Given the description of an element on the screen output the (x, y) to click on. 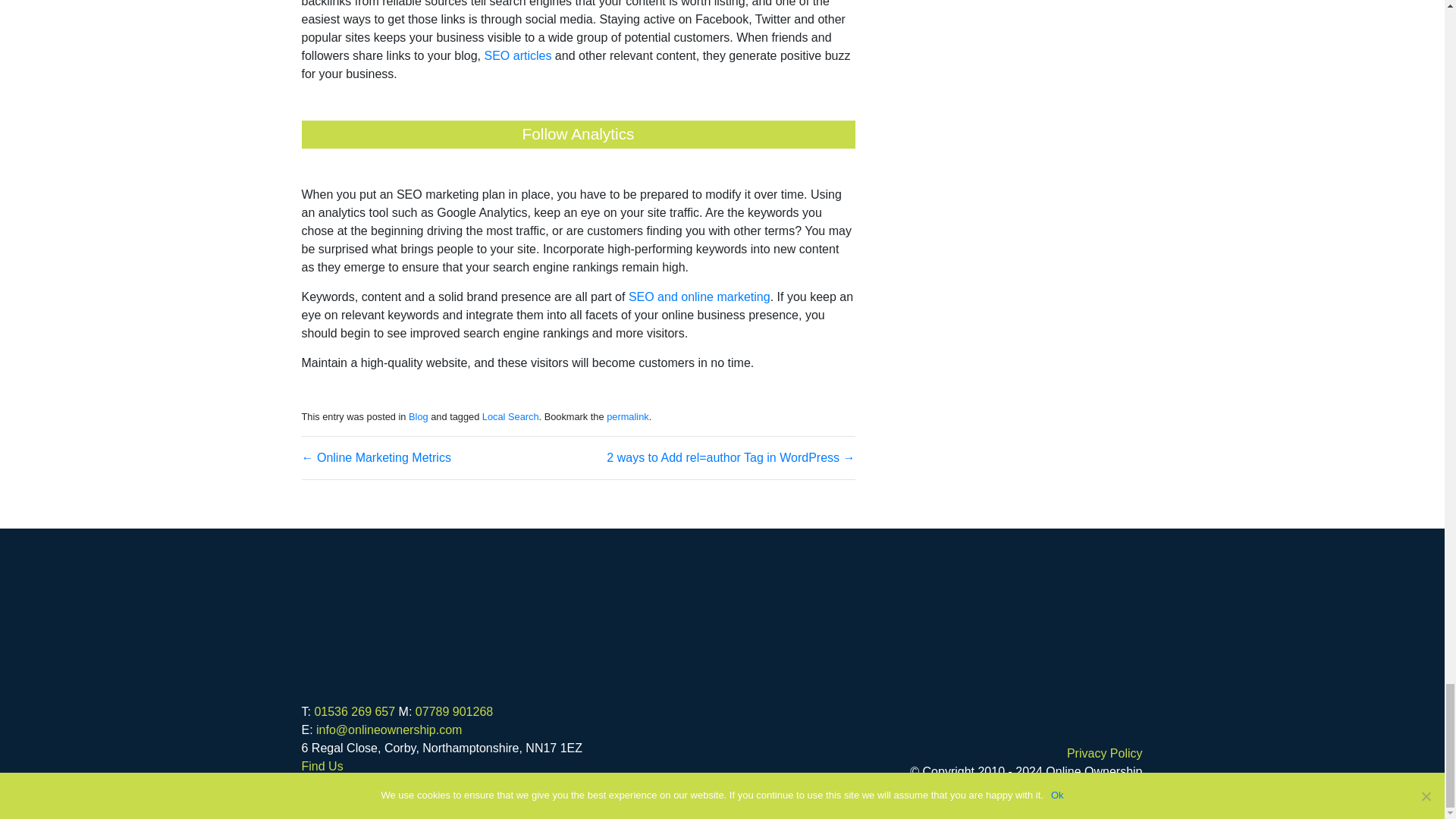
SEO articles (517, 55)
SEO and online marketing (699, 296)
